Given the description of an element on the screen output the (x, y) to click on. 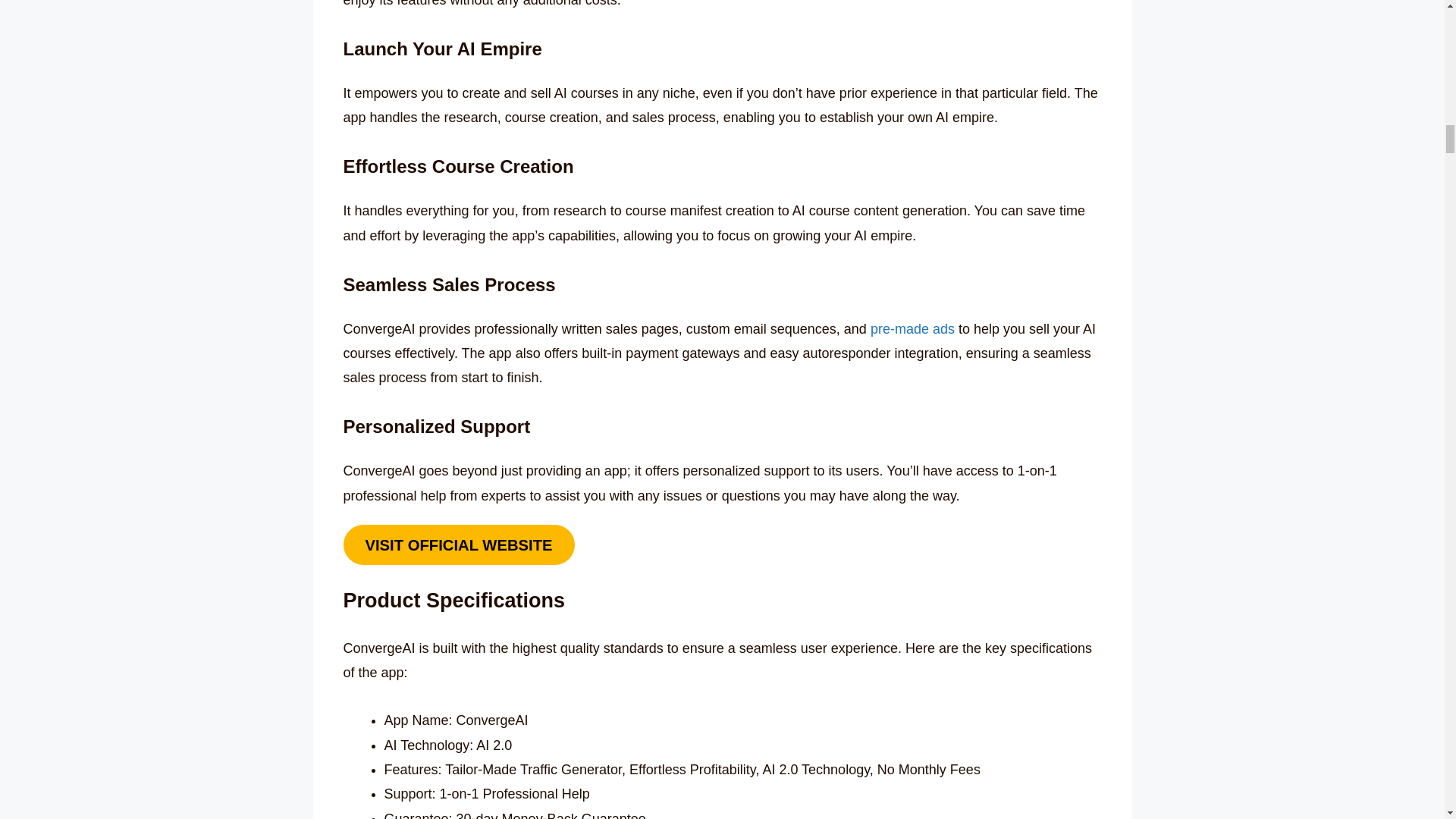
VISIT OFFICIAL WEBSITE (457, 544)
pre-made ads (912, 328)
